Given the description of an element on the screen output the (x, y) to click on. 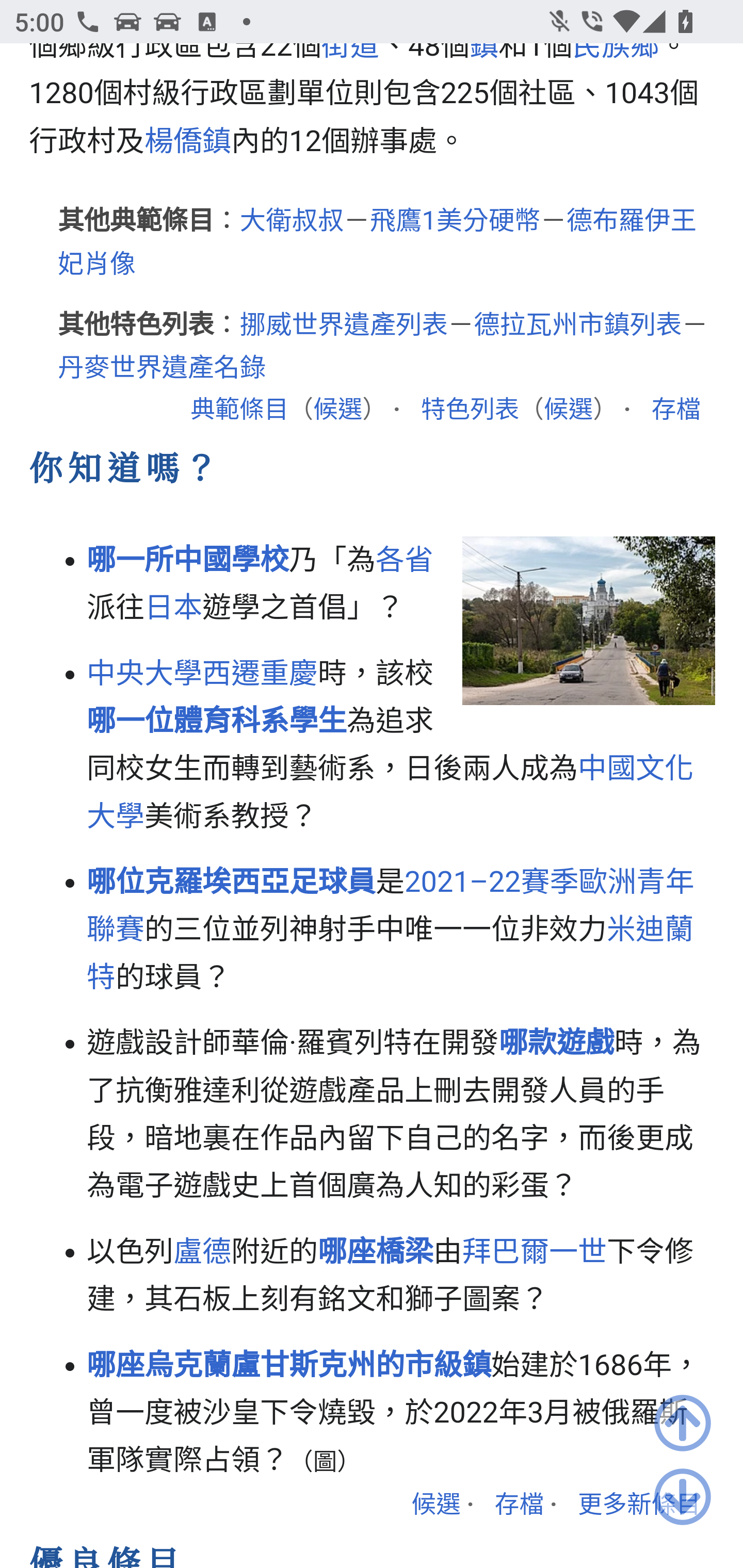
楊僑鎮 (187, 141)
其他典範條目 (135, 222)
德布羅伊王妃肖像 (376, 243)
大衛叔叔 (291, 222)
飛鷹1美分硬幣 (454, 222)
其他特色列表 (135, 326)
挪威世界遺產列表 (343, 326)
德拉瓦州市鎮列表 (577, 326)
丹麥世界遺產名錄 (162, 369)
典範條目 (239, 411)
候選 (337, 411)
特色列表 (469, 411)
候選 (567, 411)
存檔 (676, 411)
哪一所中國學校 (187, 560)
各省 (404, 560)
日本 (173, 610)
中央大學西遷 (173, 674)
重慶 (289, 674)
哪一位體育科系學生 (217, 722)
中國文化大學 (390, 793)
哪位克羅埃西亞足球員 (231, 885)
米迪蘭特 (390, 955)
哪款遊戲 (556, 1045)
盧德 (202, 1253)
哪座橋梁 (376, 1253)
拜巴爾一世 (534, 1253)
哪座烏克蘭盧甘斯克州的市級鎮 (288, 1366)
候選 (435, 1505)
存檔 (518, 1505)
更多新條目 (640, 1505)
